Given the description of an element on the screen output the (x, y) to click on. 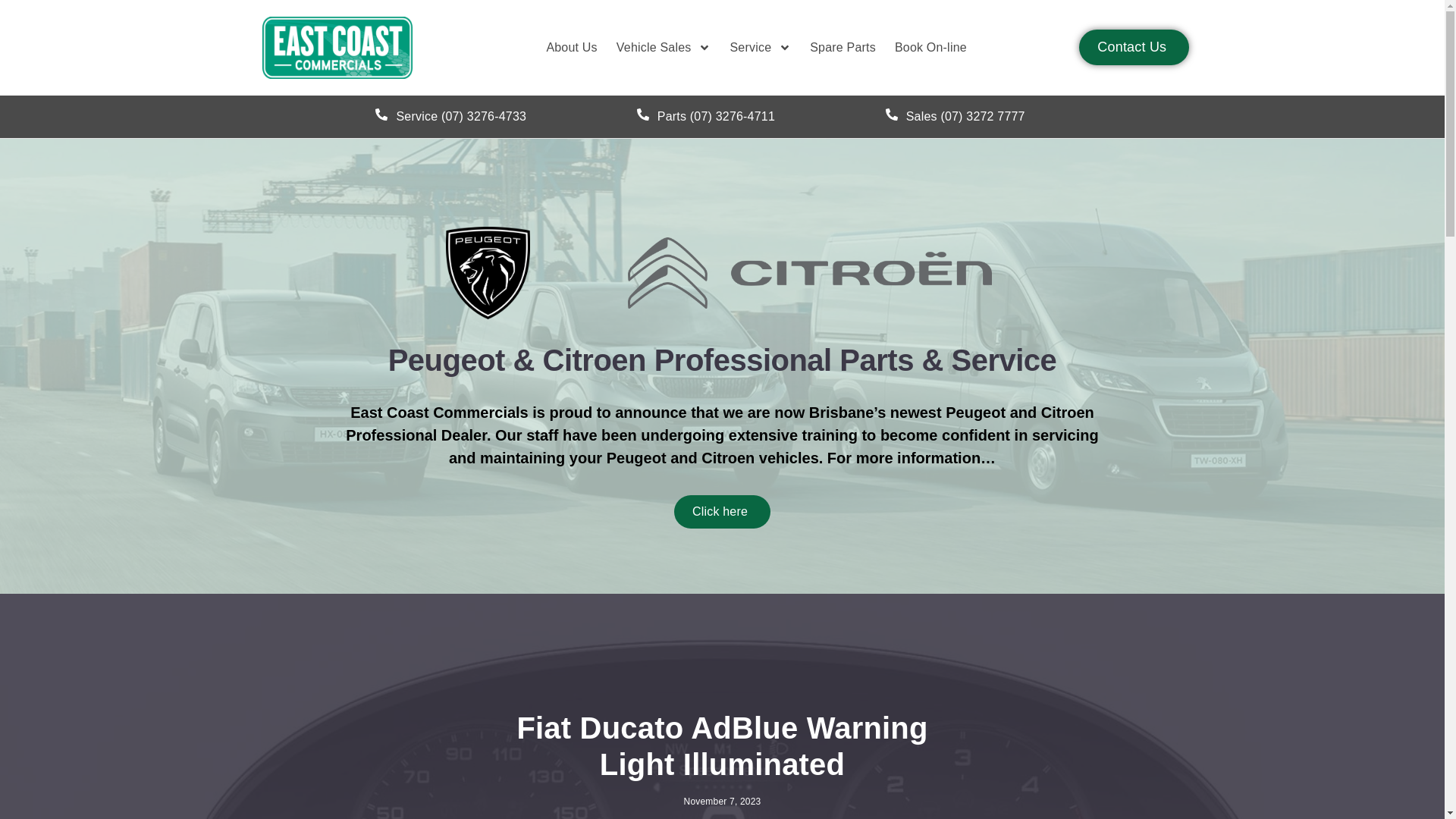
Service Element type: text (759, 47)
About Us Element type: text (571, 47)
Vehicle Sales Element type: text (663, 47)
Fiat Ducato AdBlue Warning Light Illuminated Element type: text (721, 746)
Book On-line Element type: text (930, 47)
Service (07) 3276-4733 Element type: text (450, 116)
Click here Element type: text (722, 511)
Contact Us Element type: text (1134, 47)
Sales (07) 3272 7777 Element type: text (955, 116)
Spare Parts Element type: text (842, 47)
Parts (07) 3276-4711 Element type: text (705, 116)
